Given the description of an element on the screen output the (x, y) to click on. 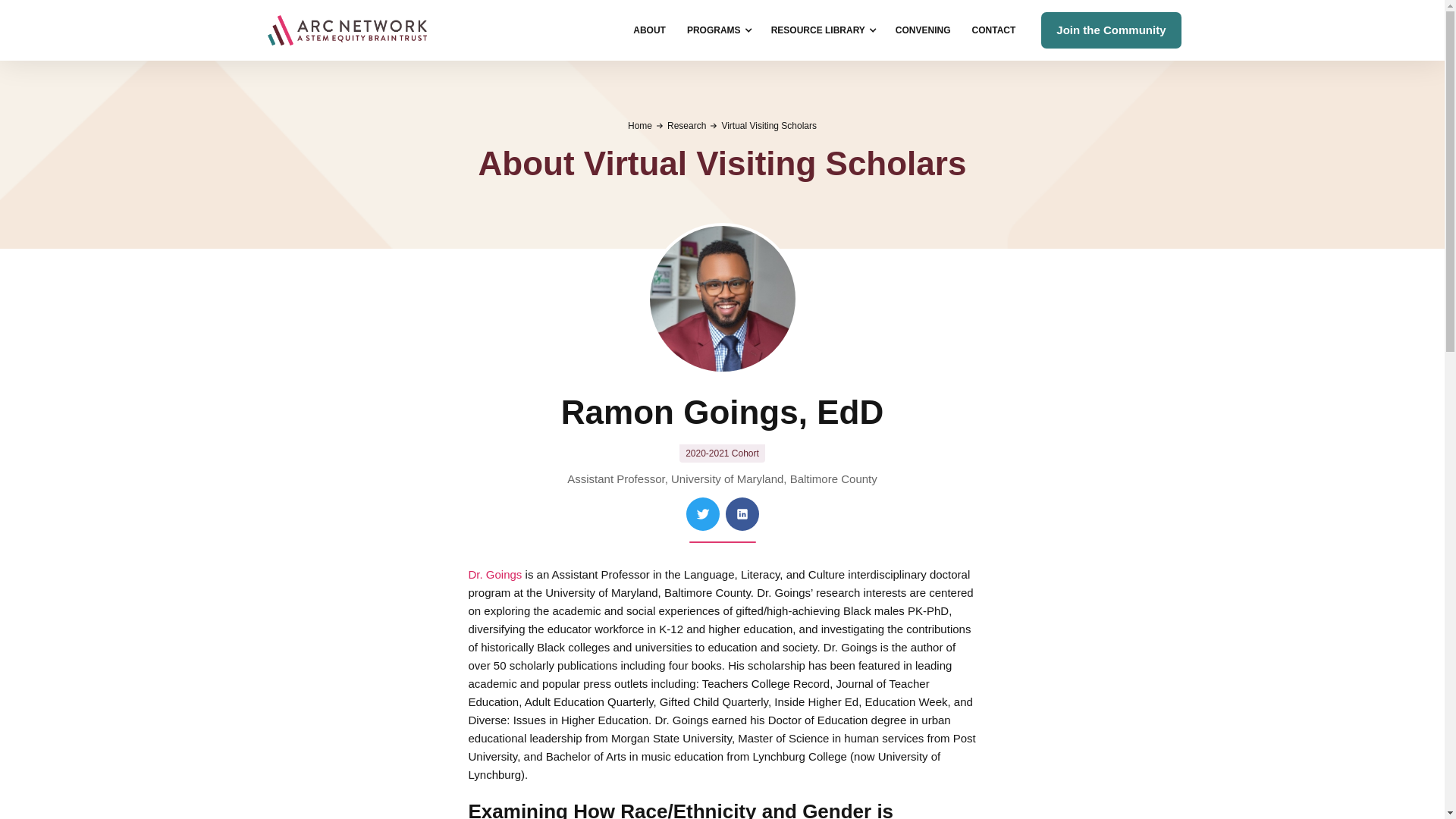
Virtual Visiting Scholars (768, 125)
CONTACT (993, 30)
Home (639, 125)
CONVENING (922, 30)
Dr. Goings (495, 574)
Join the Community (1110, 30)
ABOUT (650, 30)
